Given the description of an element on the screen output the (x, y) to click on. 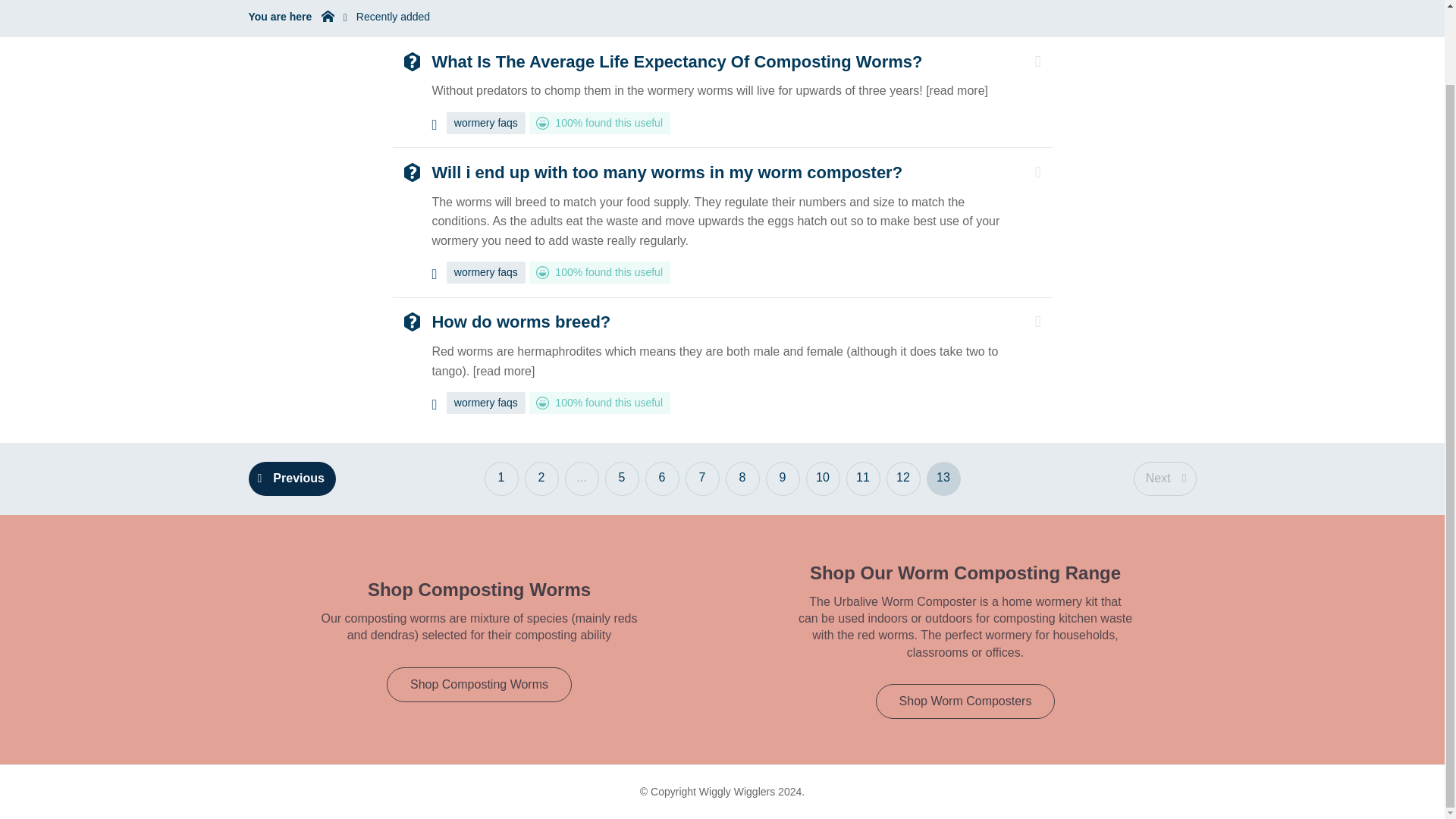
Shop Composting Worms (479, 684)
wormery faqs (485, 272)
10 (822, 478)
Previous (292, 478)
What Is The Average Life Expectancy Of Composting Worms? (675, 60)
wormery faqs (485, 123)
2 (541, 478)
8 (741, 478)
9 (782, 478)
11 (862, 478)
